Given the description of an element on the screen output the (x, y) to click on. 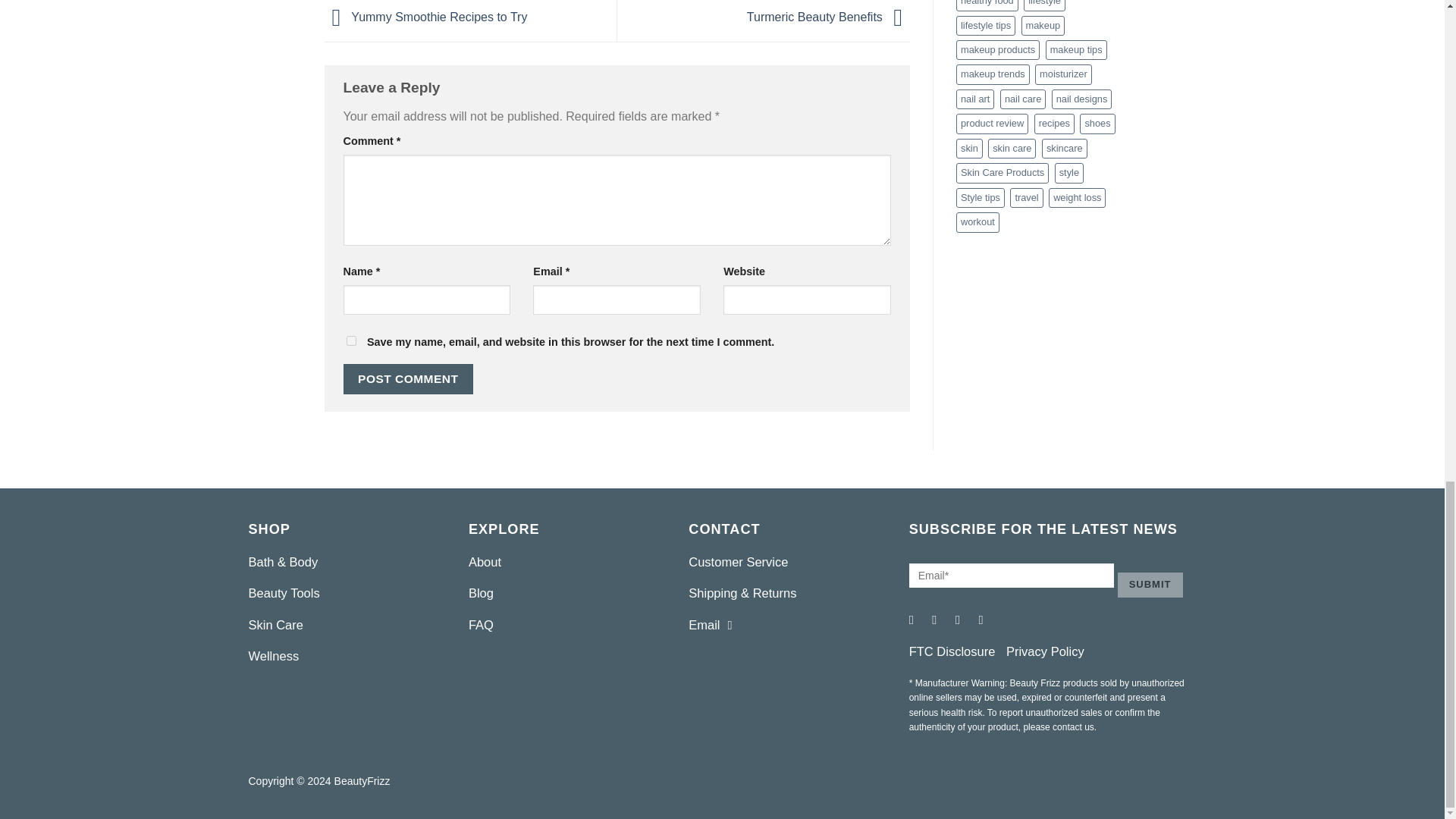
Post Comment (407, 378)
yes (350, 340)
